Given the description of an element on the screen output the (x, y) to click on. 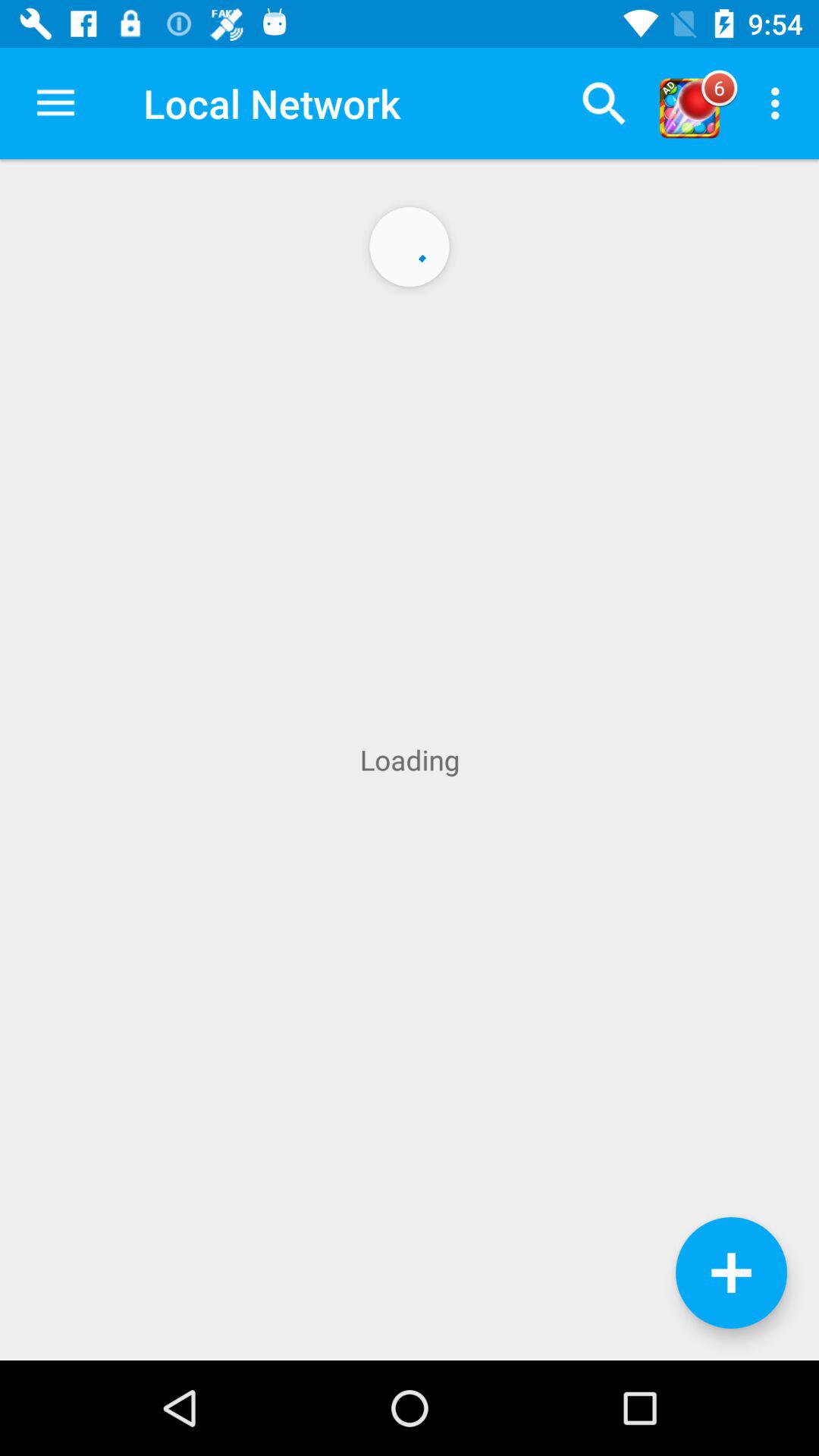
add information (731, 1272)
